Given the description of an element on the screen output the (x, y) to click on. 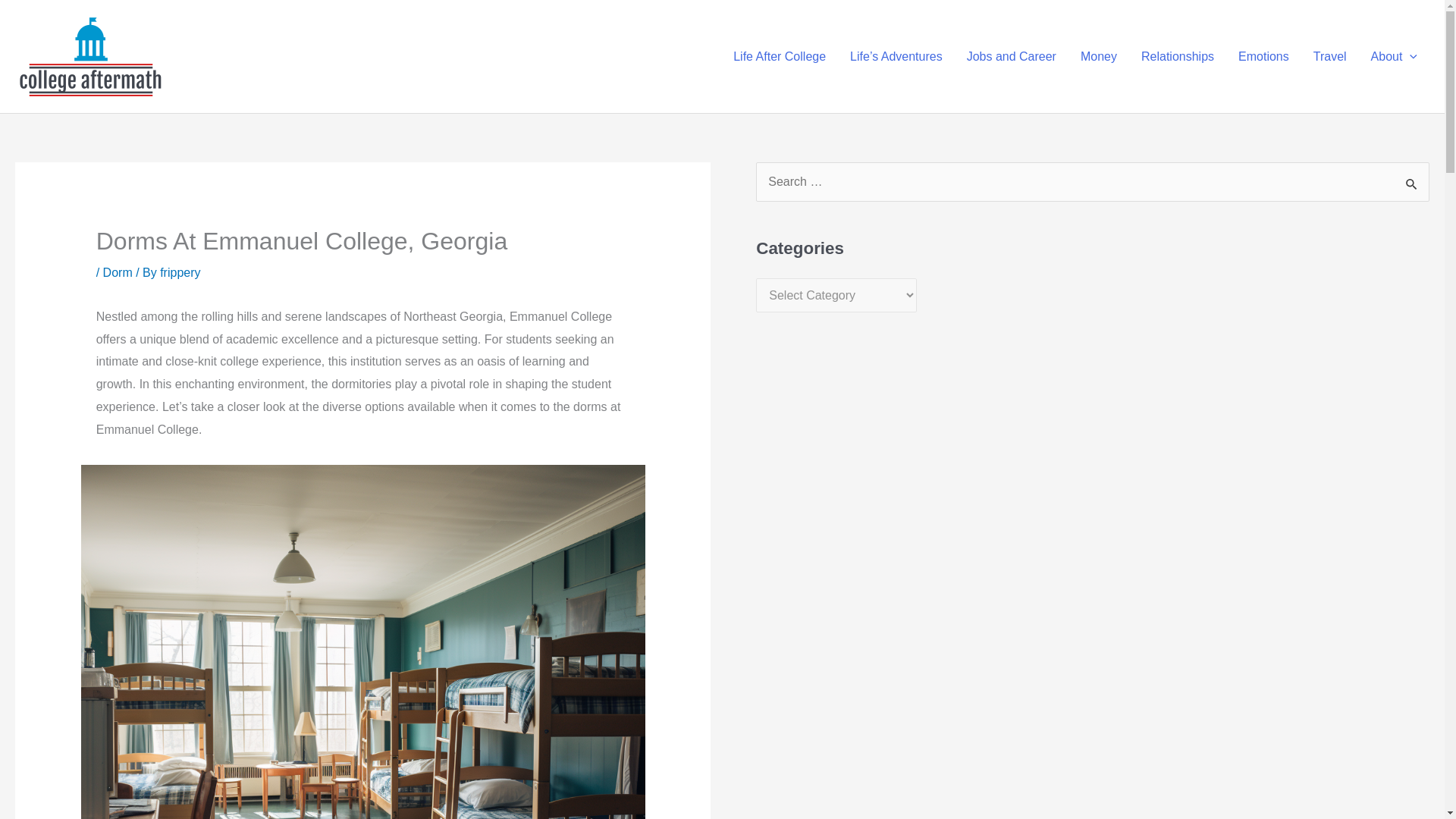
Jobs and Career (1011, 56)
Money (1098, 56)
About (1393, 56)
Relationships (1177, 56)
Travel (1329, 56)
Emotions (1263, 56)
View all posts by frippery (180, 272)
Life After College (779, 56)
